Given the description of an element on the screen output the (x, y) to click on. 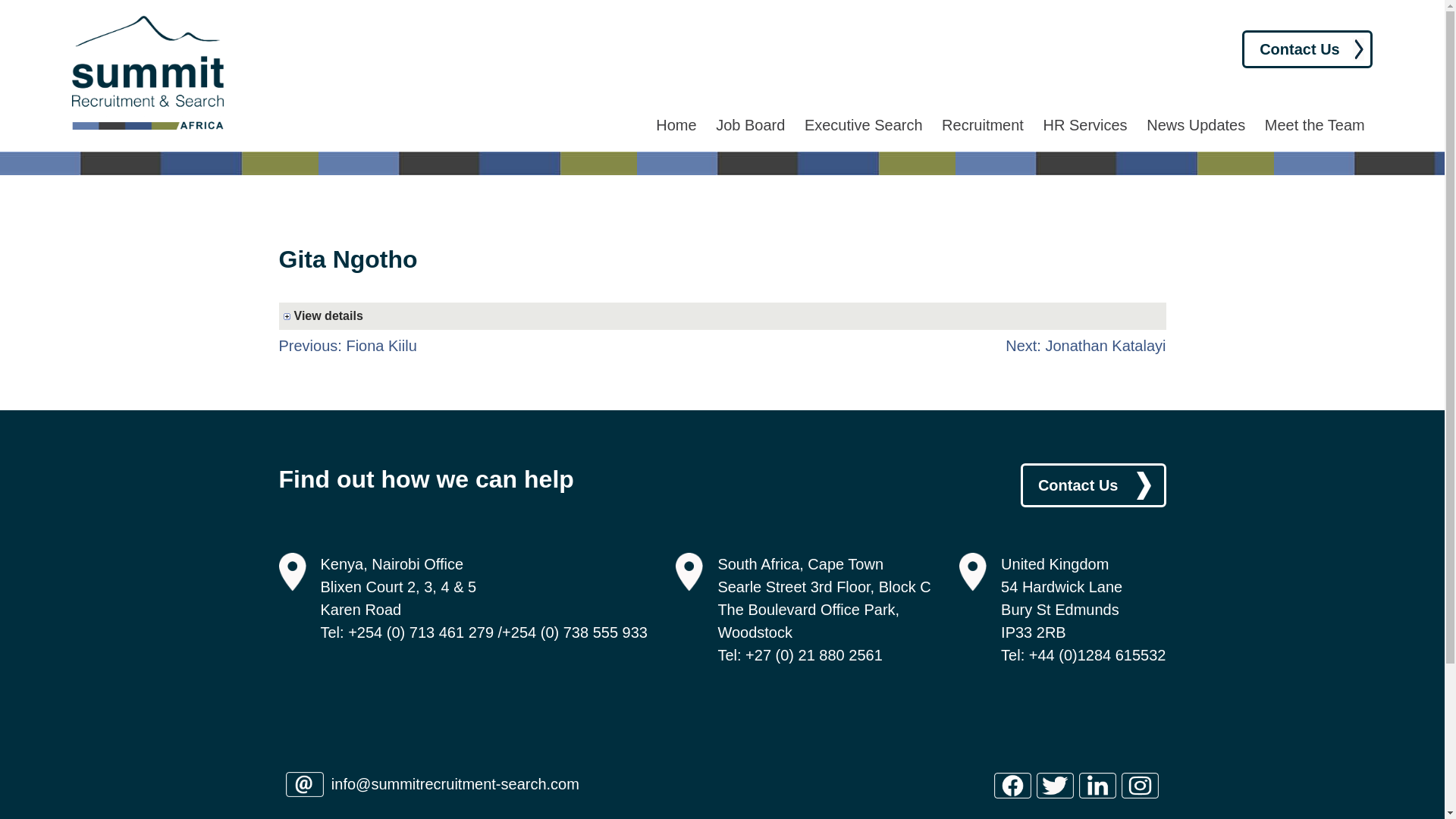
Recruitment (982, 124)
Executive Search (864, 124)
Meet the Team (1315, 124)
Expand (724, 316)
Job Board (750, 124)
Previous: Fiona Kiilu (347, 345)
Contact Us (1093, 484)
Contact Us (1307, 48)
HR Services (1084, 124)
Next: Jonathan Katalayi (1086, 345)
